Given the description of an element on the screen output the (x, y) to click on. 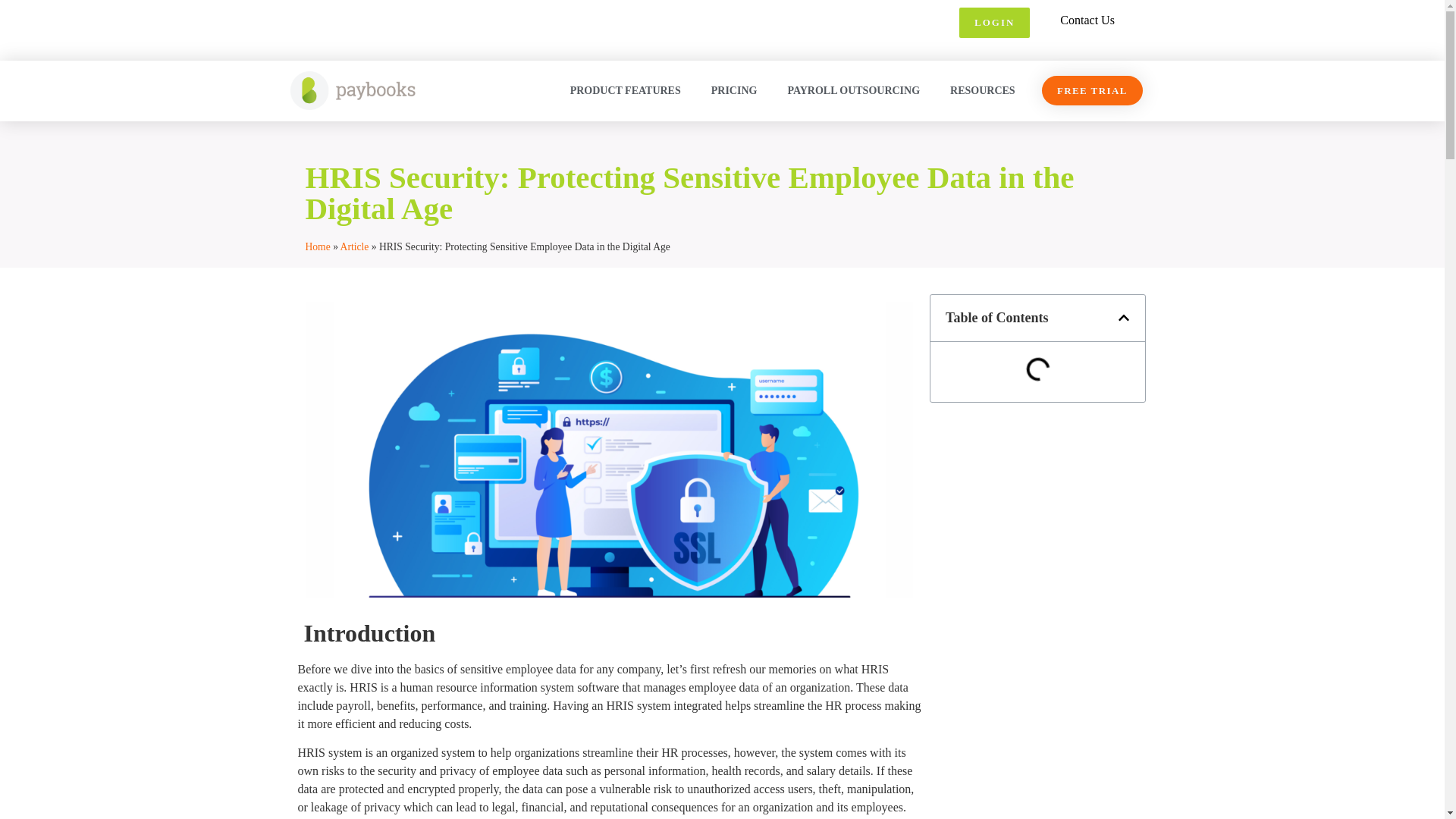
RESOURCES (982, 90)
Contact Us (1087, 19)
FREE TRIAL (1092, 91)
PAYROLL OUTSOURCING (852, 90)
LOGIN (994, 22)
PRICING (734, 90)
Home (317, 246)
PRODUCT FEATURES (624, 90)
Article (354, 246)
